Given the description of an element on the screen output the (x, y) to click on. 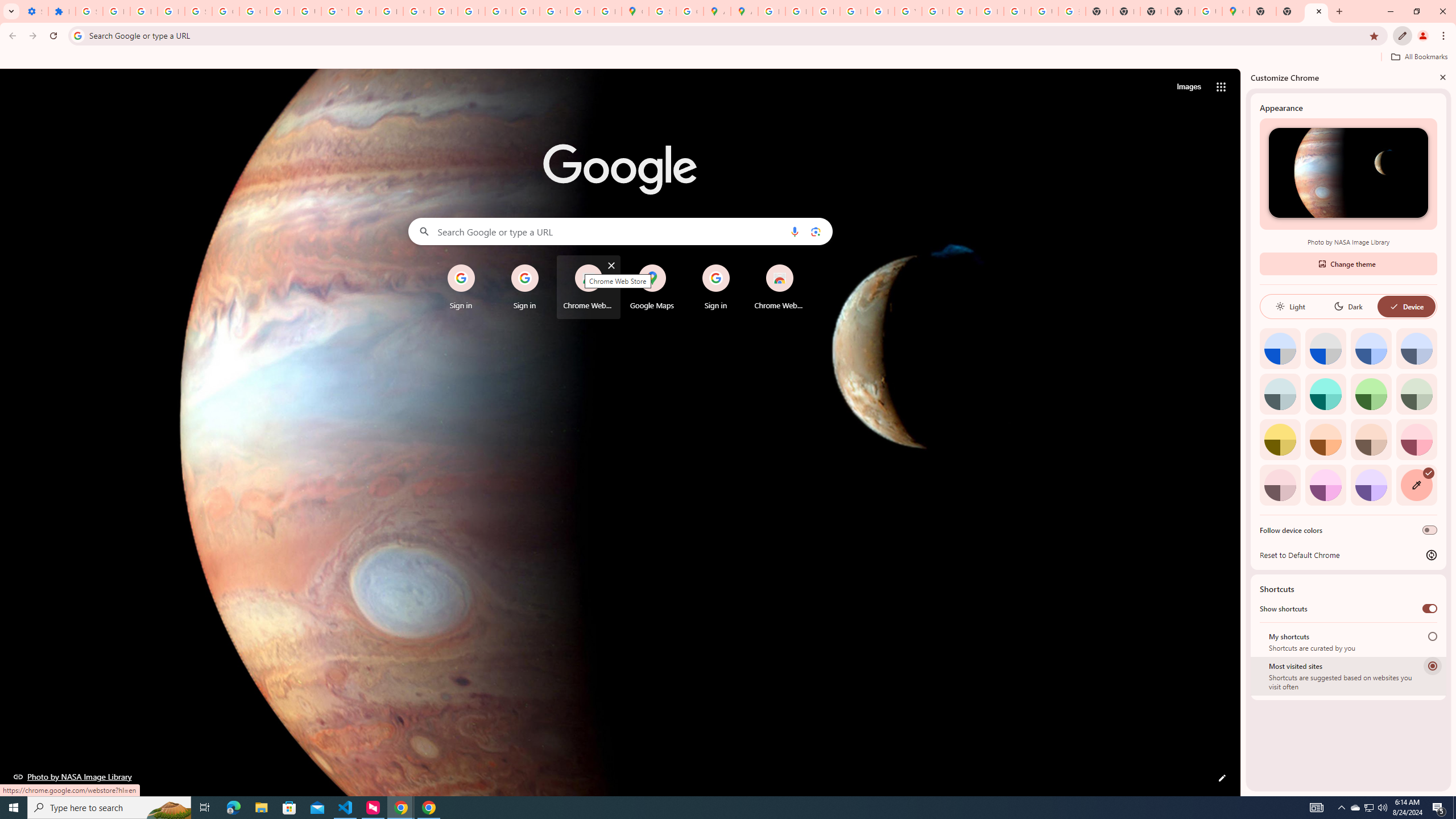
New Tab (1262, 11)
Aqua (1325, 393)
Grey (1279, 393)
Blue (1371, 348)
Policy Accountability and Transparency - Transparency Center (771, 11)
